Given the description of an element on the screen output the (x, y) to click on. 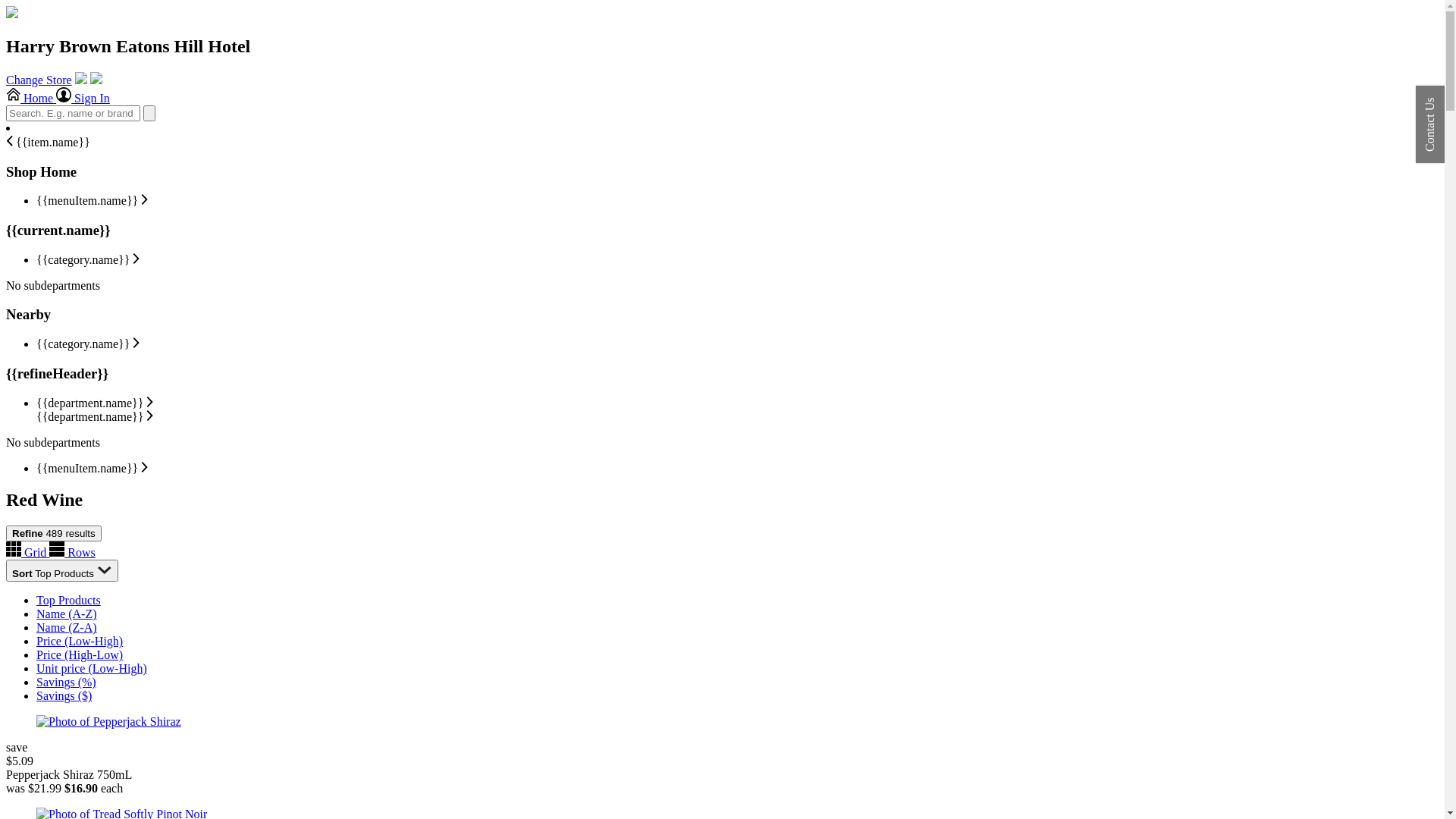
Unit price (Low-High) Element type: text (91, 668)
Savings ($) Element type: text (63, 695)
Sign In Element type: text (82, 97)
Home Element type: hover (12, 13)
Rows Element type: text (71, 552)
Instagram Element type: hover (96, 79)
Search Element type: hover (149, 113)
Price (High-Low) Element type: text (79, 654)
Price (Low-High) Element type: text (79, 640)
Name (Z-A) Element type: text (66, 627)
Home Element type: text (31, 97)
Sort Top Products Element type: text (62, 570)
Change Store Element type: text (39, 79)
Refine 489 results Element type: text (53, 533)
Facebook Element type: hover (81, 79)
Savings (%) Element type: text (66, 681)
Name (A-Z) Element type: text (66, 613)
Grid Element type: text (27, 552)
Top Products Element type: text (68, 599)
